Given the description of an element on the screen output the (x, y) to click on. 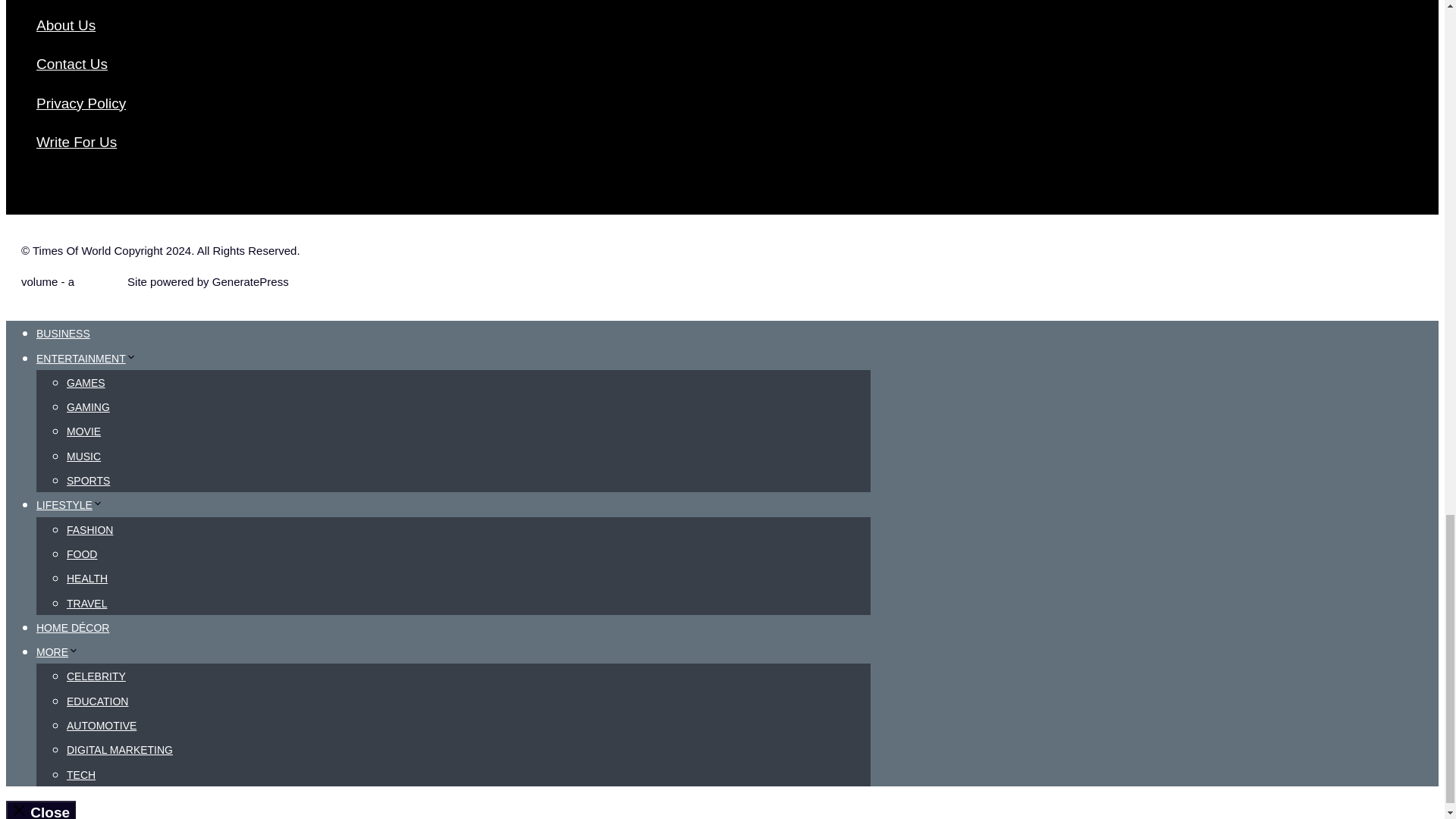
Privacy Policy (80, 103)
Scroll back to top (1406, 107)
Contact Us (71, 64)
About Us (66, 25)
